Given the description of an element on the screen output the (x, y) to click on. 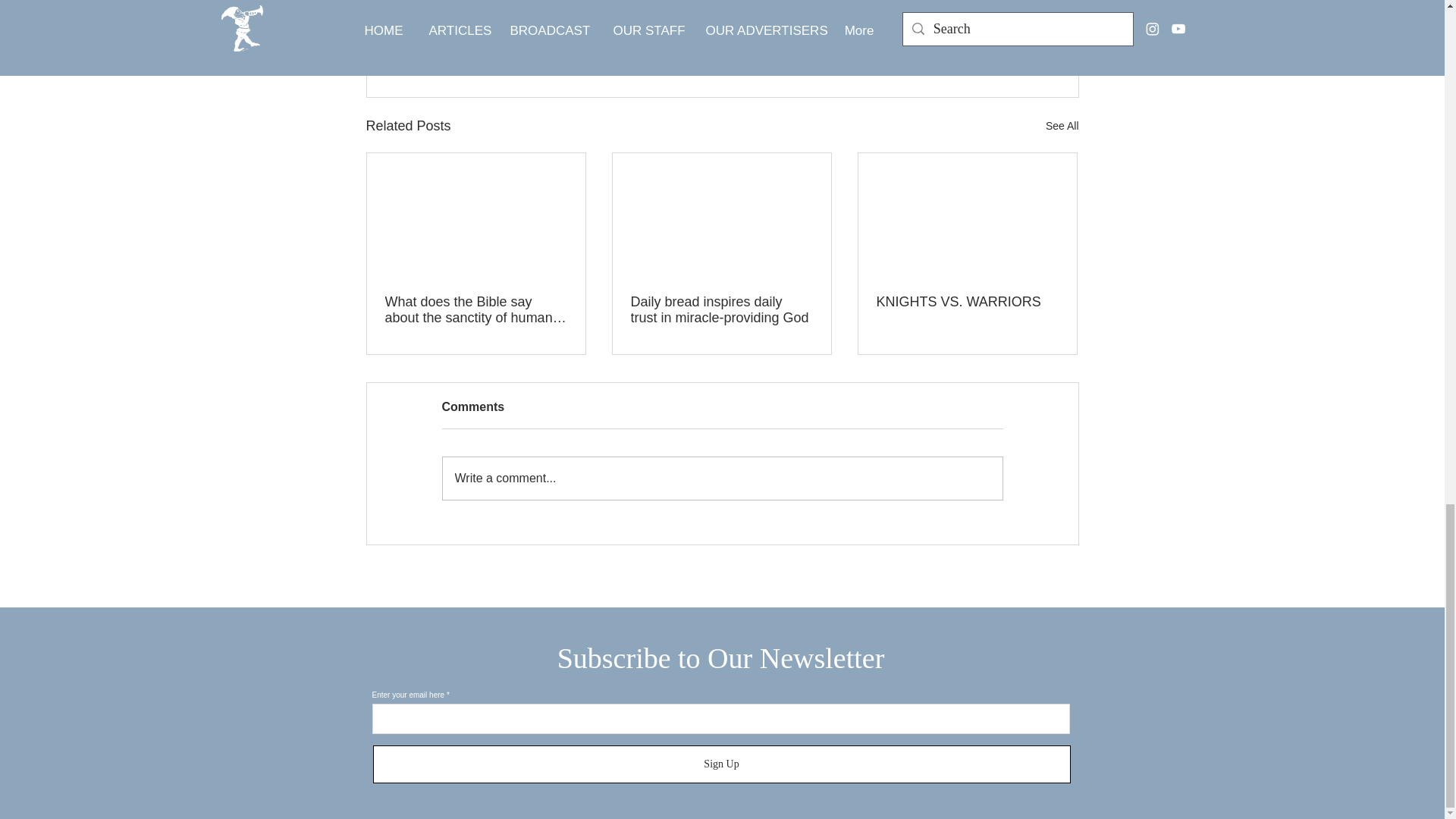
Daily bread inspires daily trust in miracle-providing God (721, 309)
ONLINE ONLY (967, 28)
See All (1061, 126)
KNIGHTS VS. WARRIORS (967, 302)
Sign Up (721, 763)
Write a comment... (722, 478)
What does the Bible say about the sanctity of human life? (476, 309)
